Given the description of an element on the screen output the (x, y) to click on. 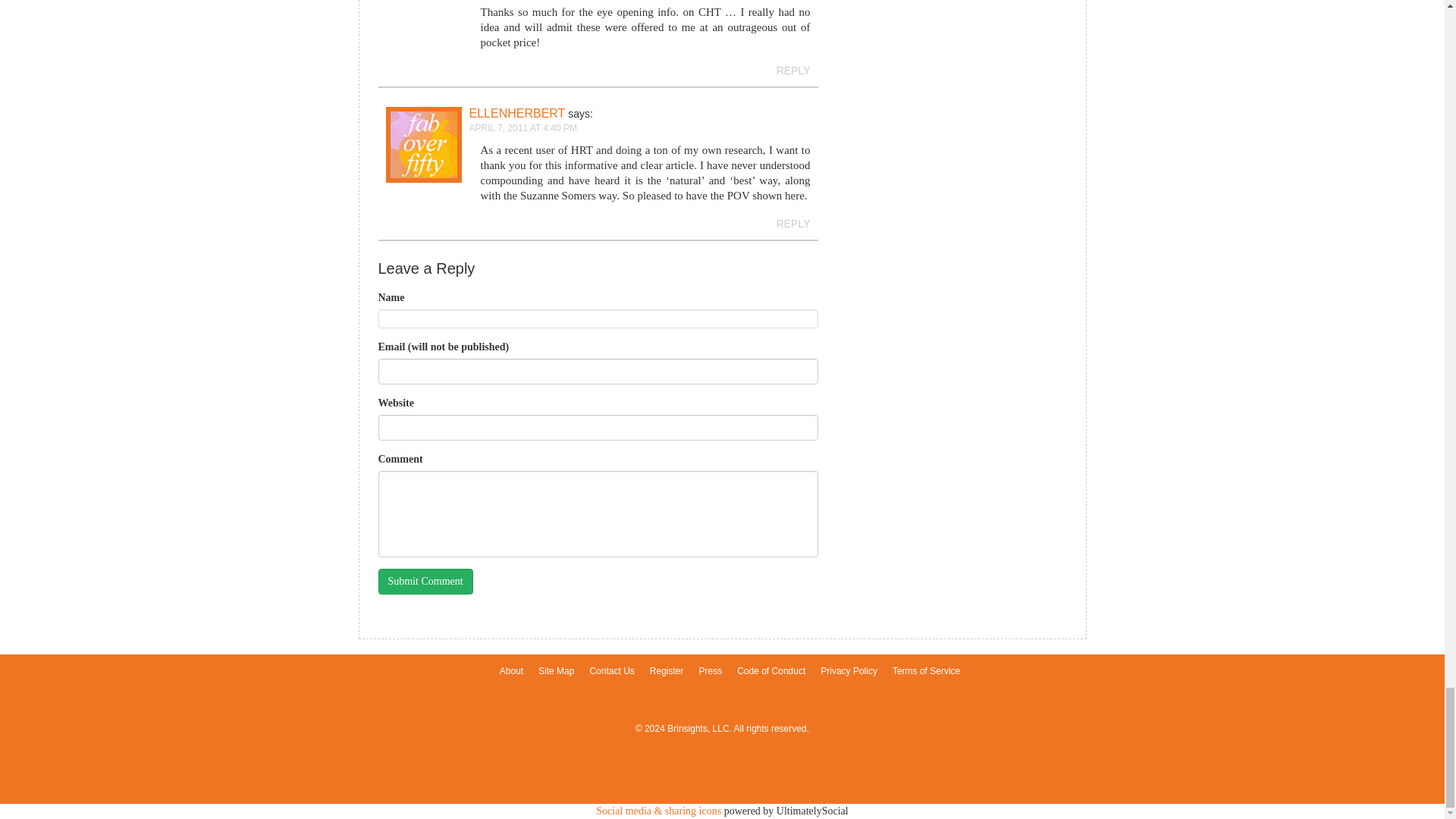
Submit Comment (424, 581)
